Given the description of an element on the screen output the (x, y) to click on. 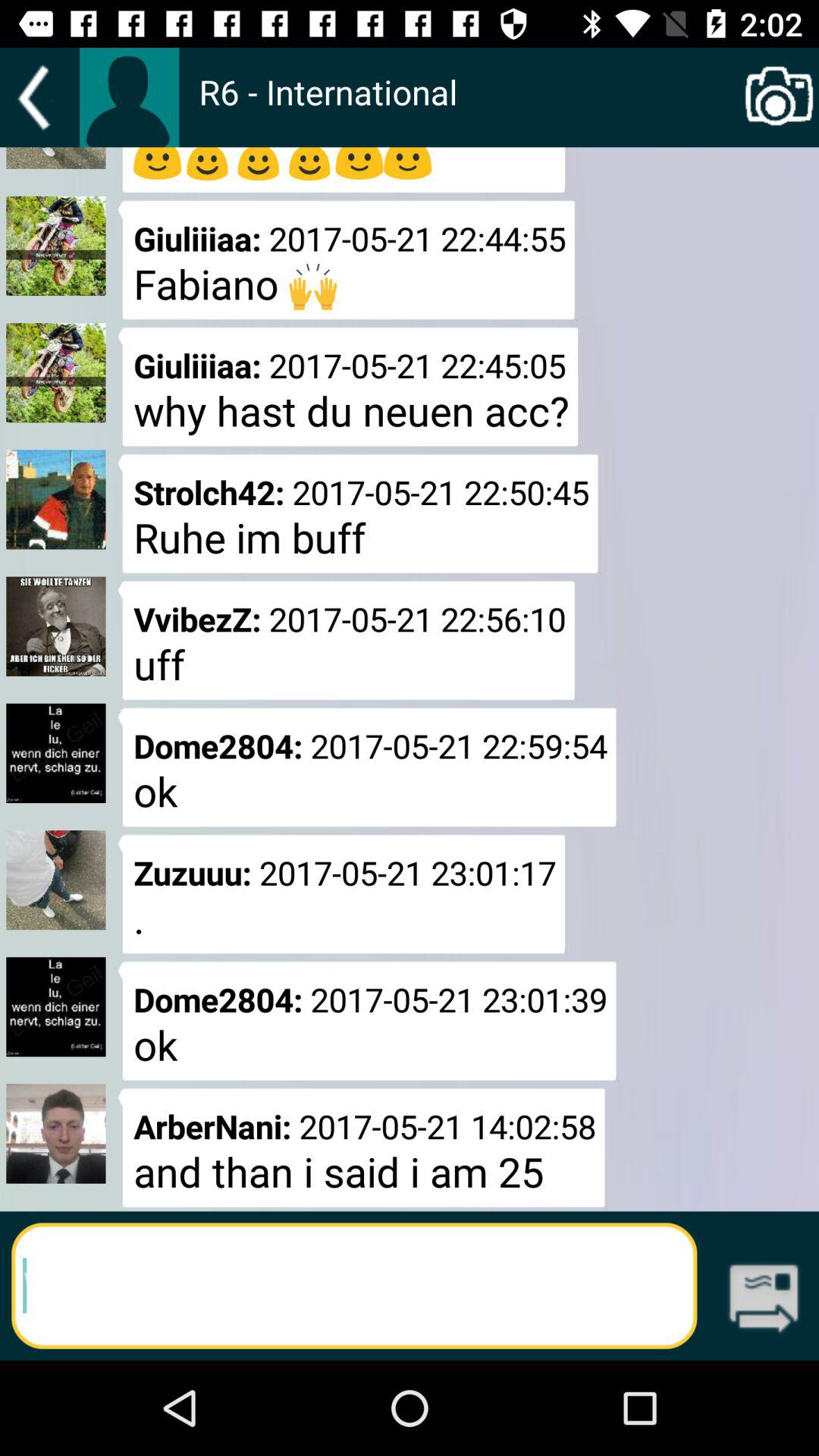
take a picture (779, 97)
